Given the description of an element on the screen output the (x, y) to click on. 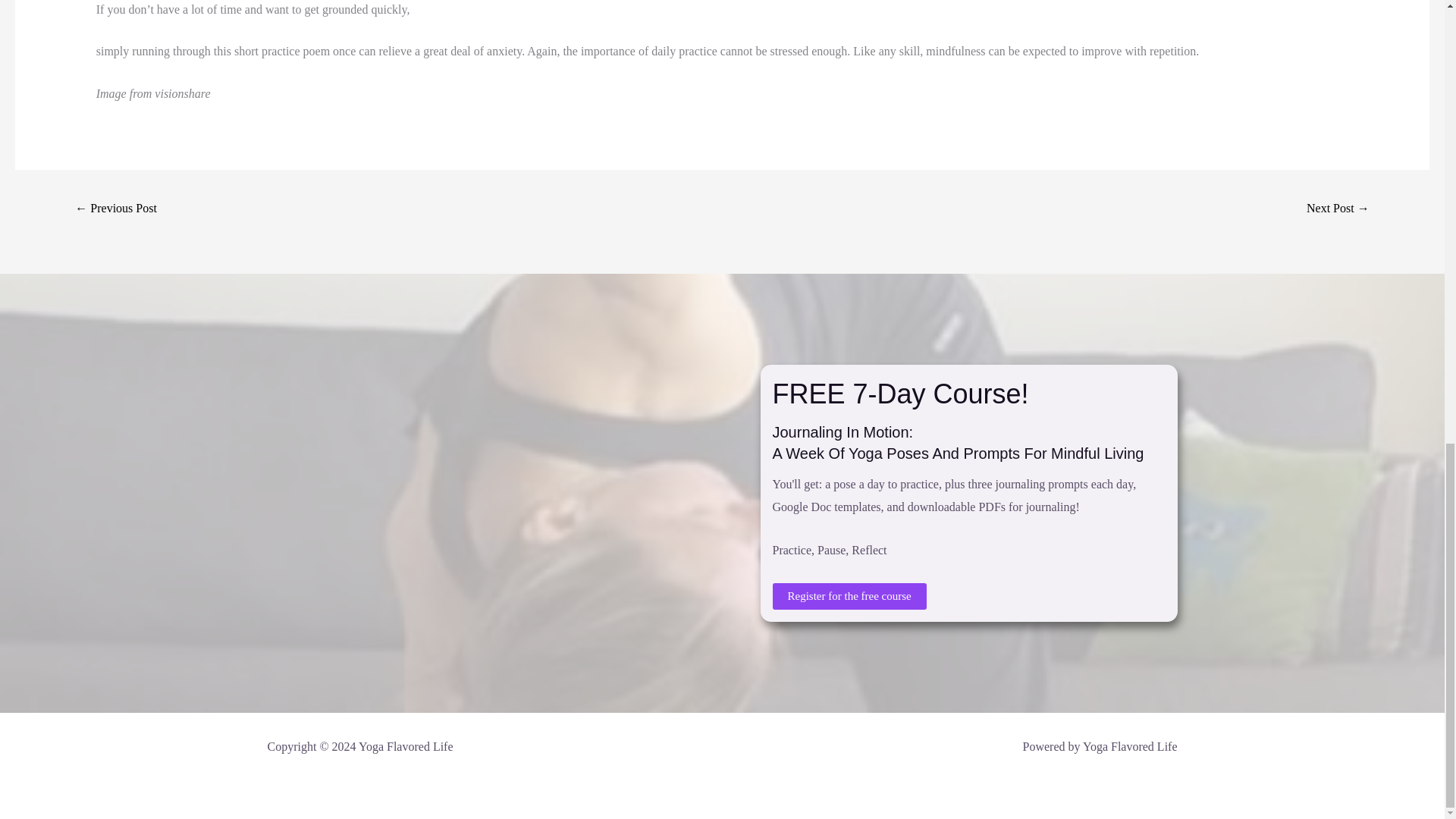
Radical Renewal (1337, 209)
A Transformative Practice (115, 209)
Register for the free course (848, 596)
